Given the description of an element on the screen output the (x, y) to click on. 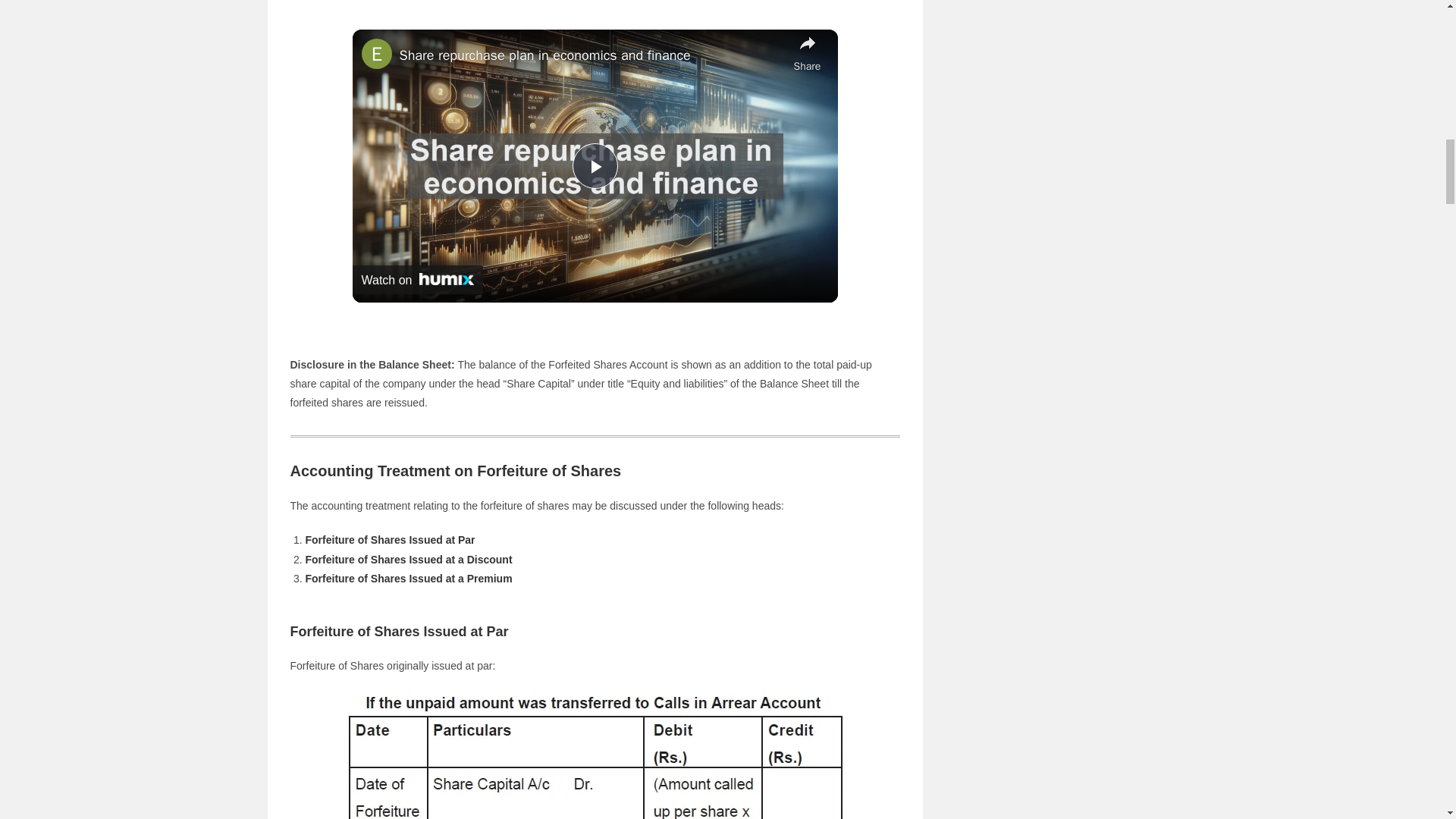
Play Video (594, 166)
